Given the description of an element on the screen output the (x, y) to click on. 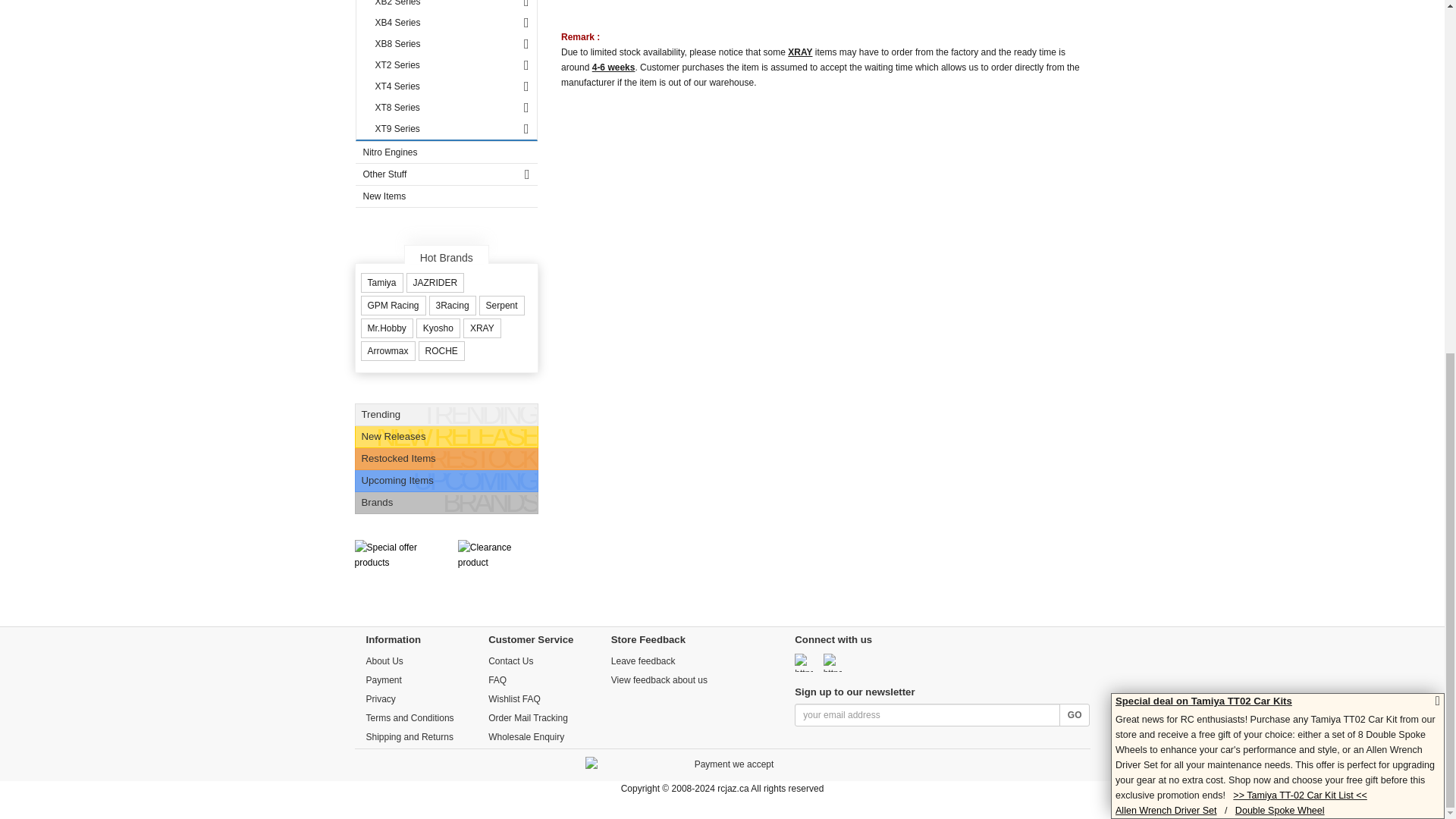
Clearance product (495, 577)
Payment we accept (727, 768)
Special offer products (392, 577)
